Given the description of an element on the screen output the (x, y) to click on. 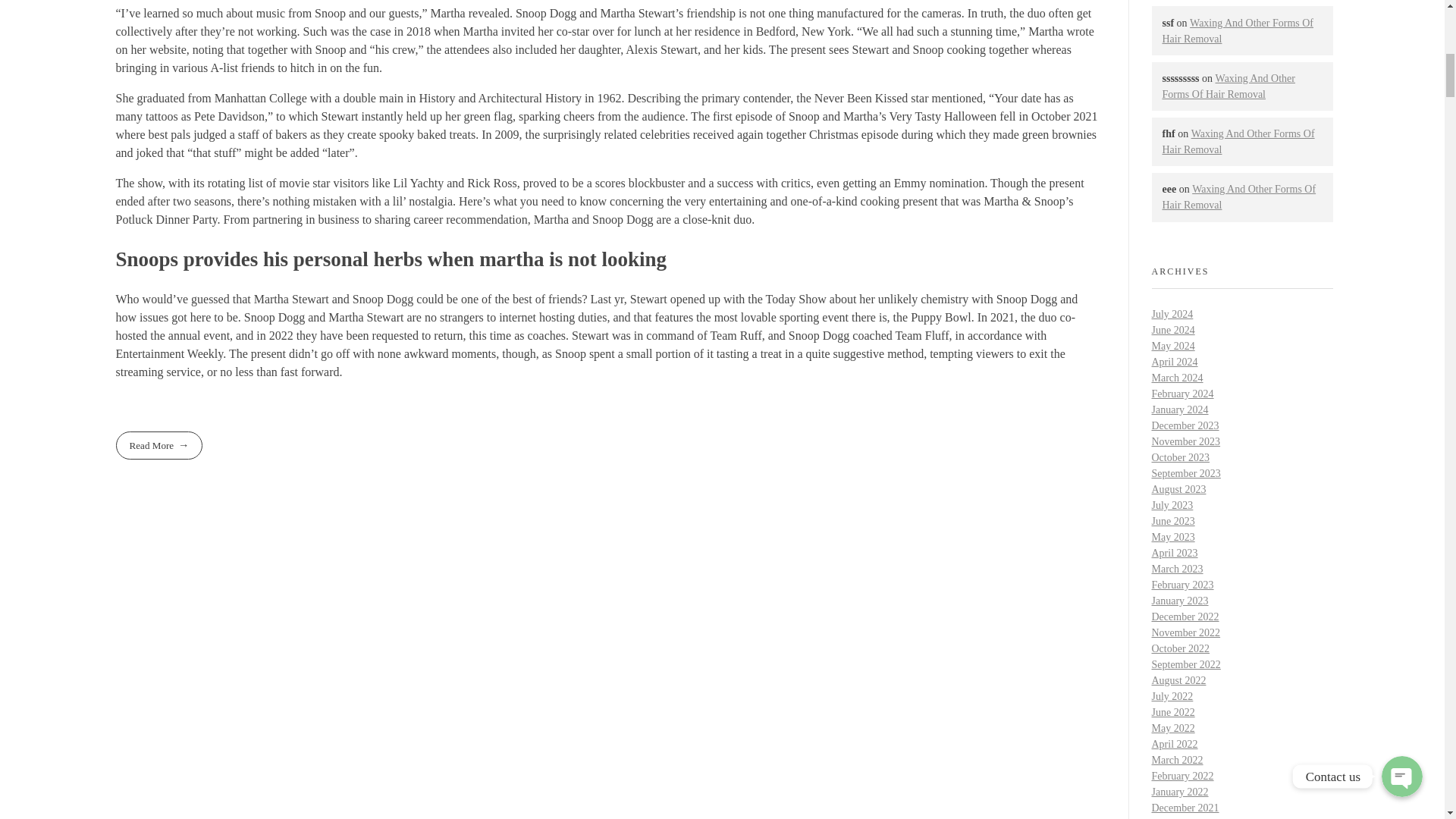
Read More (158, 445)
September 2023 (1185, 473)
March 2024 (1176, 378)
May 2024 (1172, 346)
October 2023 (1180, 457)
January 2024 (1179, 409)
Waxing And Other Forms Of Hair Removal (1227, 85)
May 2023 (1172, 536)
December 2023 (1184, 425)
August 2023 (1178, 489)
Waxing And Other Forms Of Hair Removal (1237, 141)
November 2023 (1185, 441)
Waxing And Other Forms Of Hair Removal (1238, 196)
July 2023 (1171, 505)
June 2023 (1172, 521)
